Given the description of an element on the screen output the (x, y) to click on. 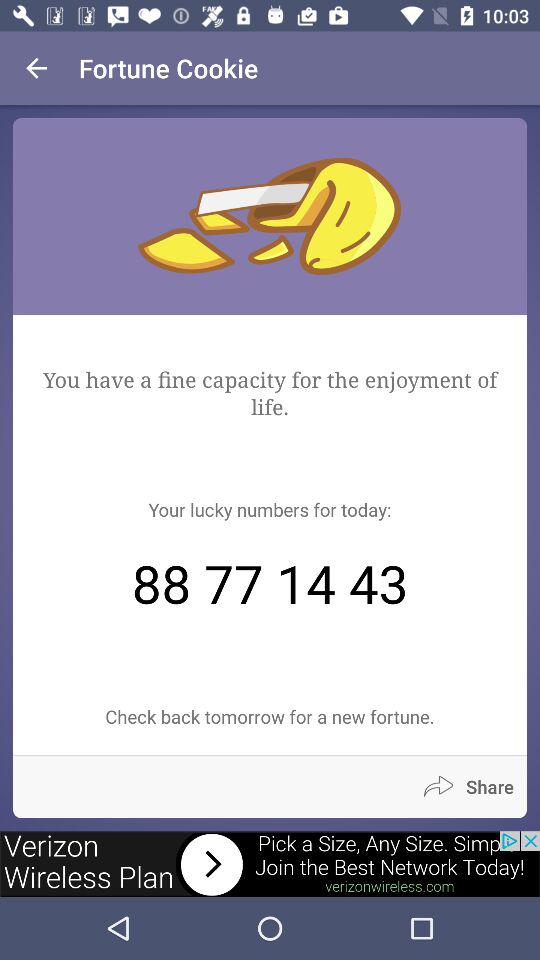
advertisement panel (270, 864)
